Given the description of an element on the screen output the (x, y) to click on. 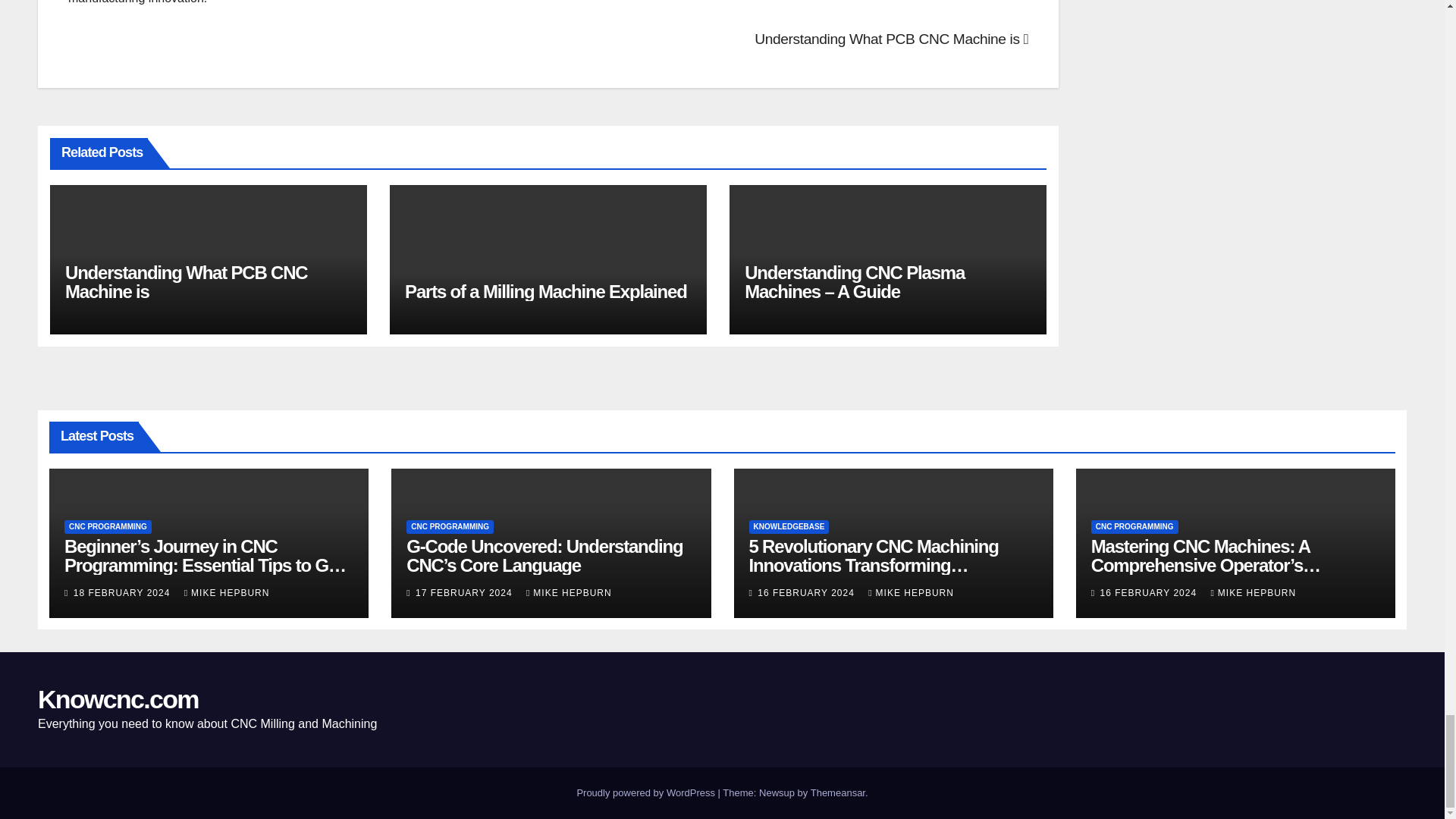
Permalink to: Understanding What PCB CNC Machine is (186, 282)
Understanding What PCB CNC Machine is (890, 38)
Parts of a Milling Machine Explained (545, 291)
Permalink to: Parts of a Milling Machine Explained (545, 291)
Understanding What PCB CNC Machine is (186, 282)
